Given the description of an element on the screen output the (x, y) to click on. 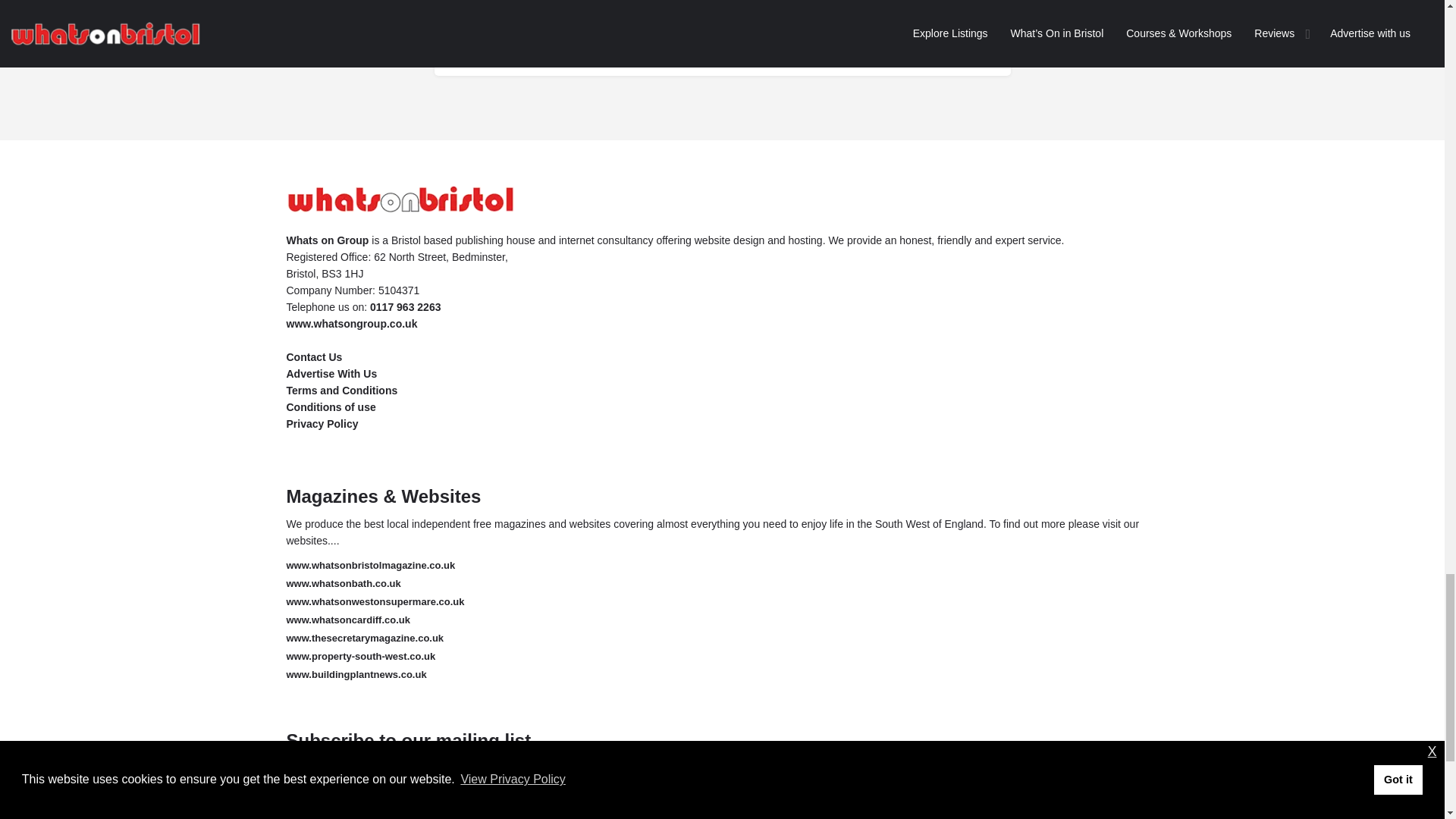
www.whatsoncardiff.co.uk (348, 619)
Privacy Policy (858, 784)
Contact Us (314, 357)
www.buildingplantnews.co.uk (356, 674)
www.property-south-west.co.uk (360, 655)
Conditions of use (330, 407)
www.whatsonbath.co.uk (343, 583)
Submit comment (721, 36)
Privacy Policy (322, 423)
Advertise With Us (331, 373)
www.whatsongroup.co.uk (351, 323)
www.whatsonbristolmagazine.co.uk (370, 564)
Terms and Conditions (341, 390)
www.whatsonwestonsupermare.co.uk (375, 601)
www.thesecretarymagazine.co.uk (365, 637)
